Given the description of an element on the screen output the (x, y) to click on. 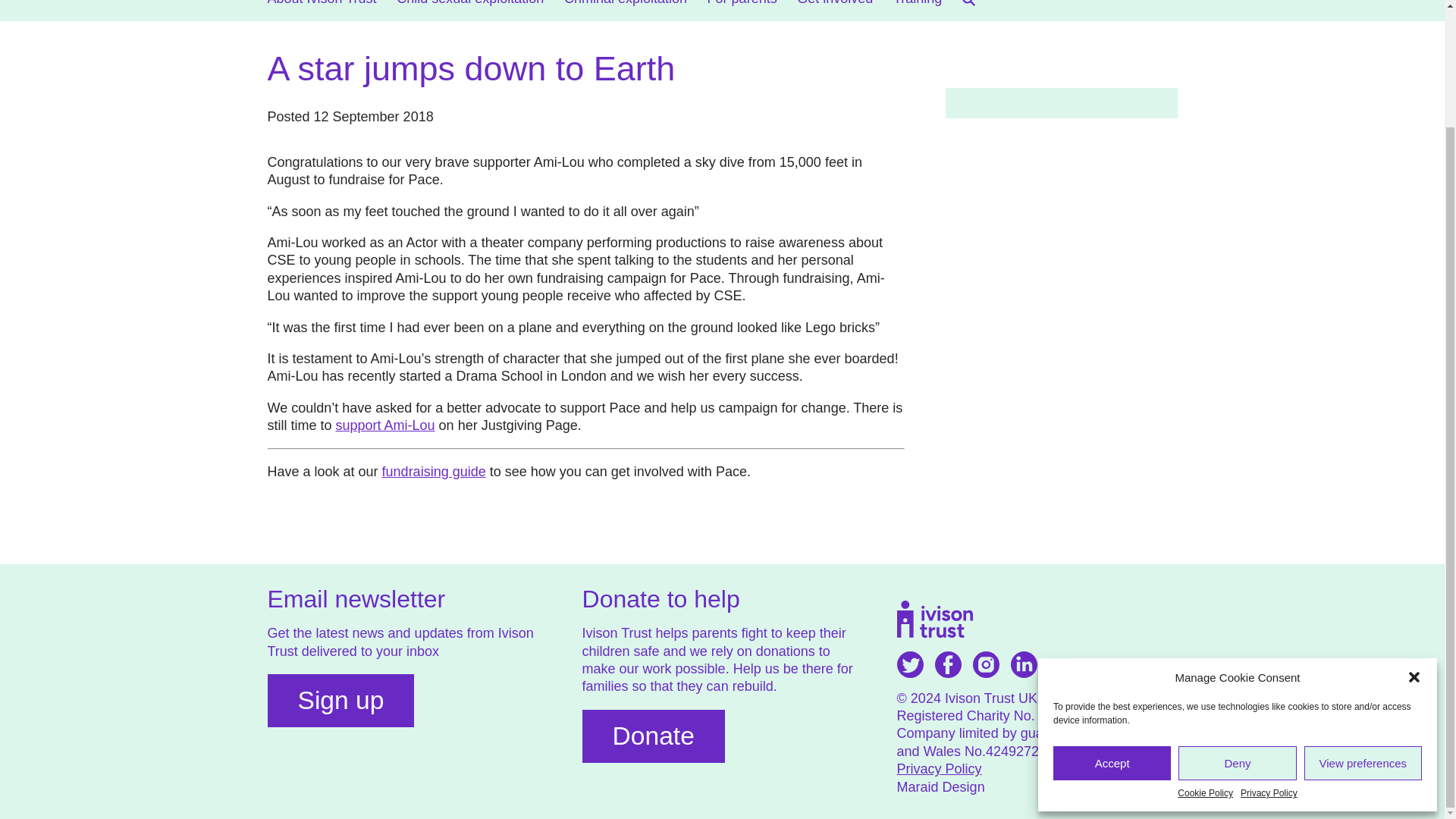
About Ivison Trust (320, 6)
Donate (653, 736)
Accept (1111, 623)
Criminal exploitation (625, 6)
View preferences (1363, 623)
For parents (742, 6)
Sign up (339, 700)
support Ami-Lou (385, 425)
Deny (1236, 623)
Cookie Policy (1205, 654)
